Given the description of an element on the screen output the (x, y) to click on. 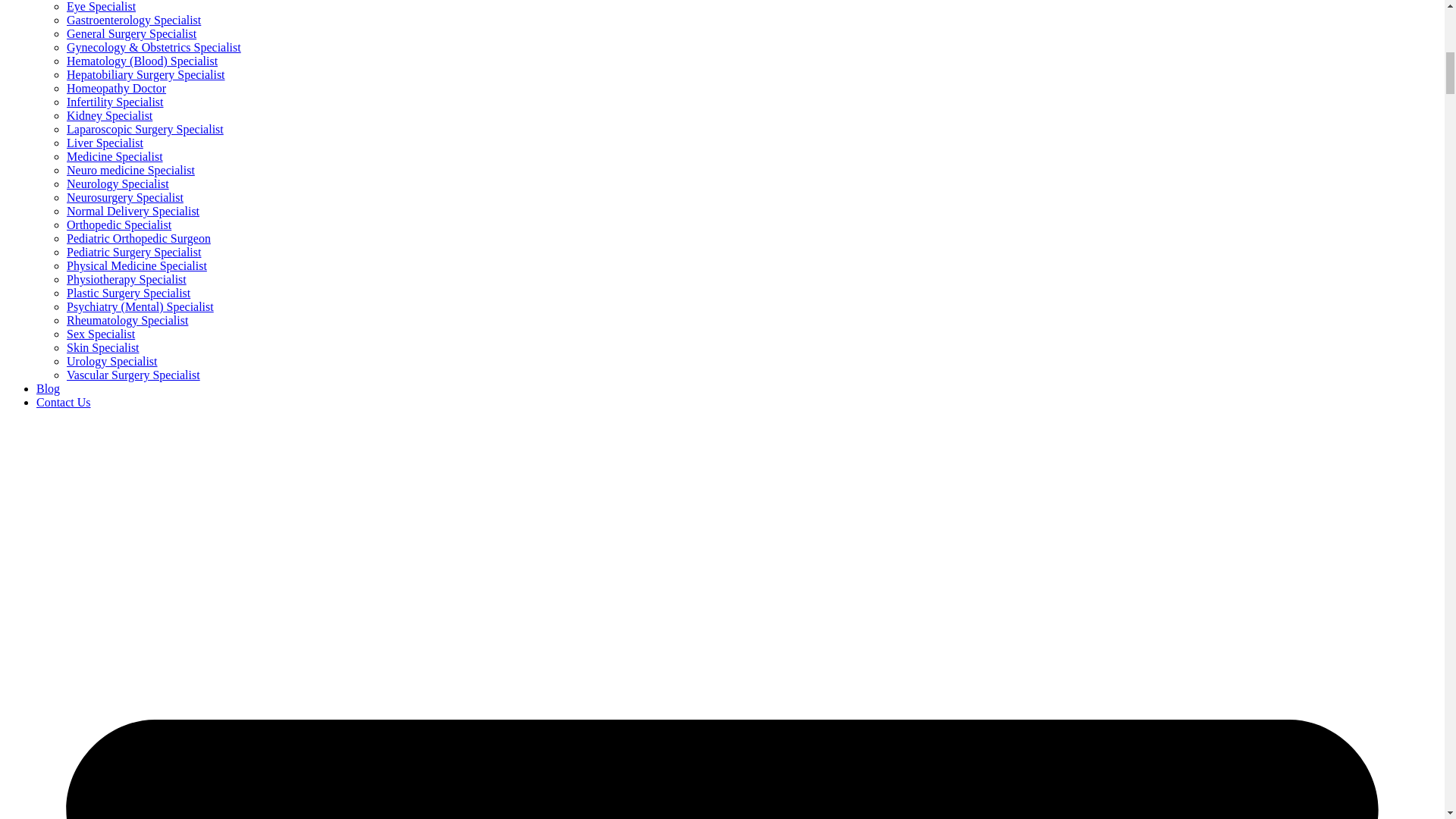
Eye Specialist (100, 6)
Gastroenterology Specialist (133, 19)
General Surgery Specialist (131, 33)
